Given the description of an element on the screen output the (x, y) to click on. 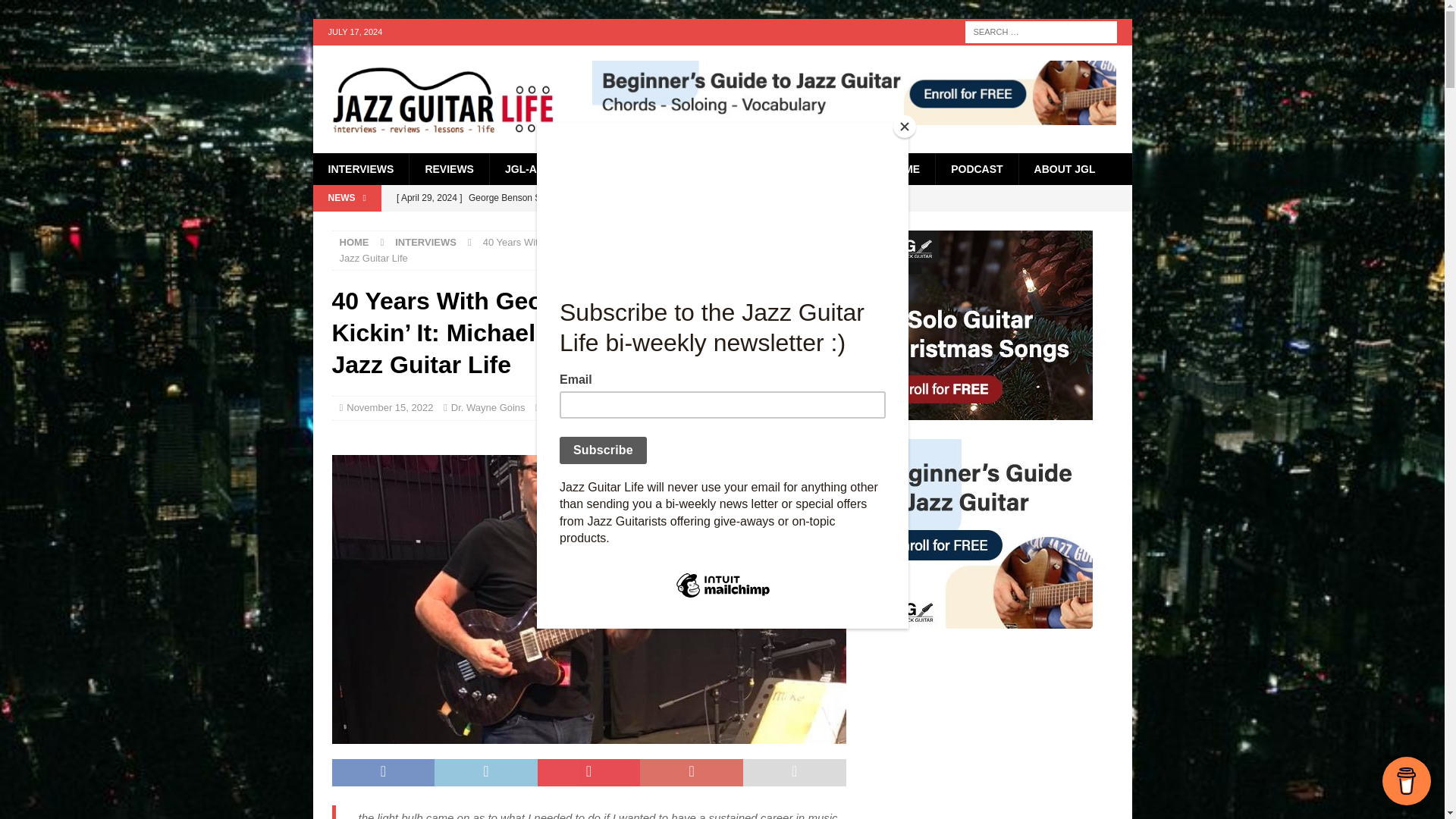
Dr. Wayne Goins (488, 407)
INTERVIEWS (361, 169)
Interviews (565, 407)
JGL-ARTICLES (542, 169)
CONTACT (831, 169)
ADVERTISE (744, 169)
HOME (903, 169)
HOME (354, 242)
REVIEWS (449, 169)
INTERVIEWS (425, 242)
CONTRIBUTE (647, 169)
PODCAST (975, 169)
ABOUT JGL (1063, 169)
Search (56, 11)
November 15, 2022 (389, 407)
